Given the description of an element on the screen output the (x, y) to click on. 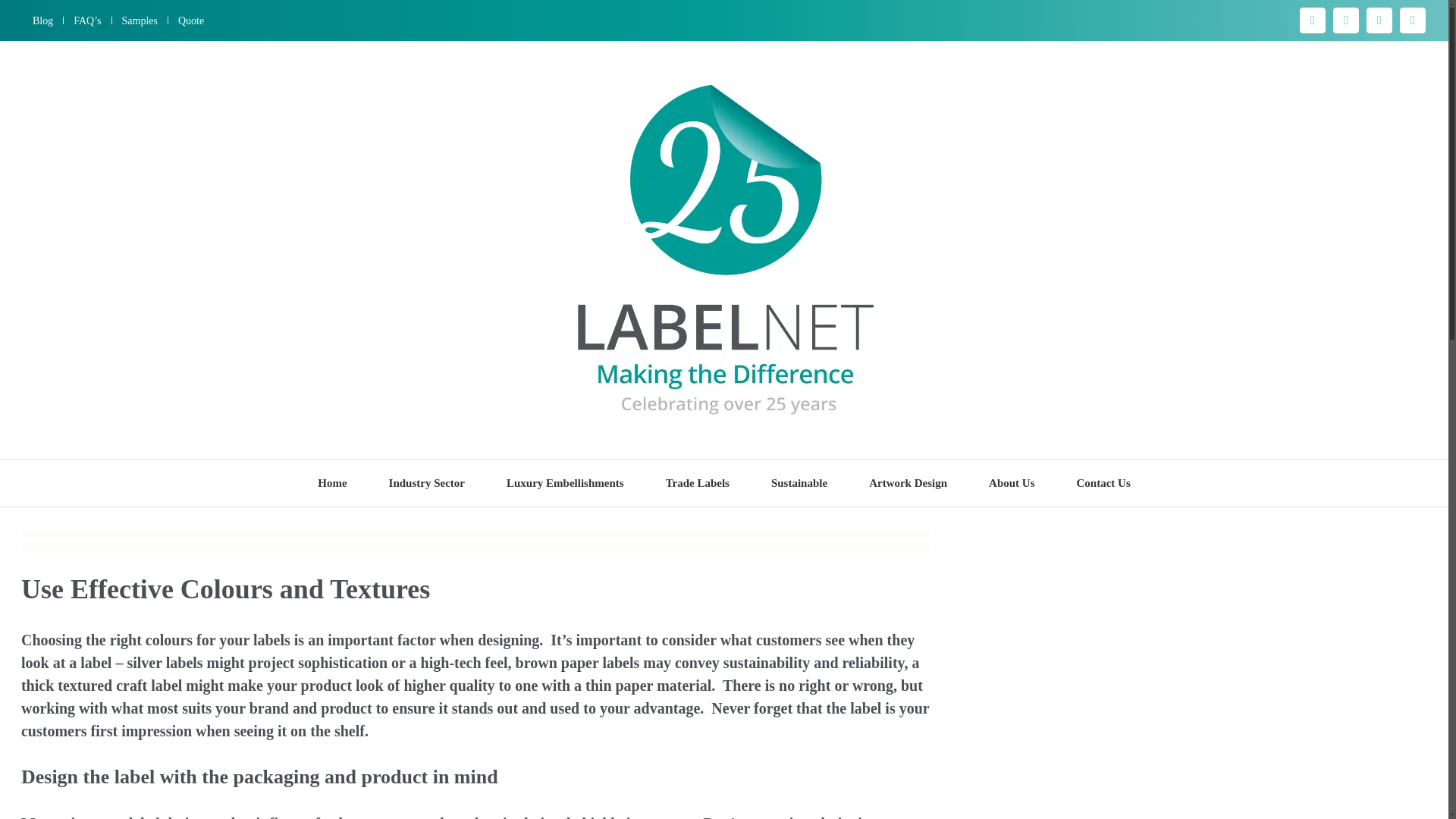
Samples (139, 20)
Blog (42, 20)
Luxury Embellishments (565, 482)
Instagram (1345, 20)
Sustainable (799, 482)
Industry Sector (426, 482)
LinkedIn (1412, 20)
Trade Labels (697, 482)
LinkedIn (1412, 20)
Instagram (1345, 20)
About Us (1010, 482)
X (1379, 20)
Facebook (1312, 20)
Quote (191, 20)
Artwork Design (908, 482)
